Given the description of an element on the screen output the (x, y) to click on. 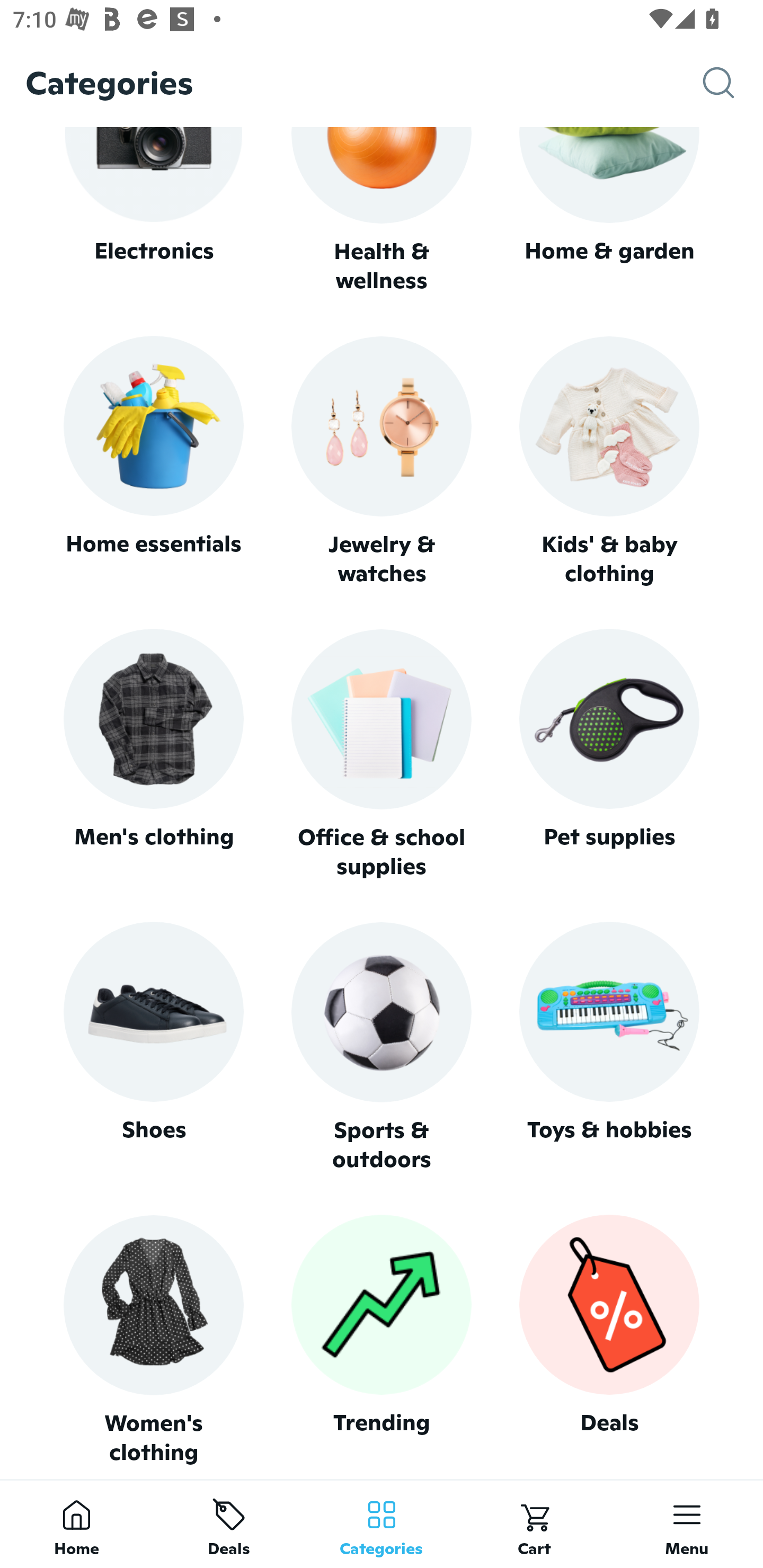
Search (732, 82)
Electronics (153, 210)
Health & wellness (381, 210)
Home & garden (609, 210)
Home essentials (153, 461)
Jewelry & watches (381, 462)
Kids' & baby clothing (609, 462)
Men's clothing (153, 753)
Pet supplies (609, 753)
Office & school supplies (381, 753)
Shoes (153, 1046)
Toys & hobbies (609, 1046)
Sports & outdoors (381, 1046)
Trending (381, 1340)
Deals (609, 1340)
Women's clothing (153, 1340)
Home (76, 1523)
Deals (228, 1523)
Categories (381, 1523)
Cart (533, 1523)
Menu (686, 1523)
